Given the description of an element on the screen output the (x, y) to click on. 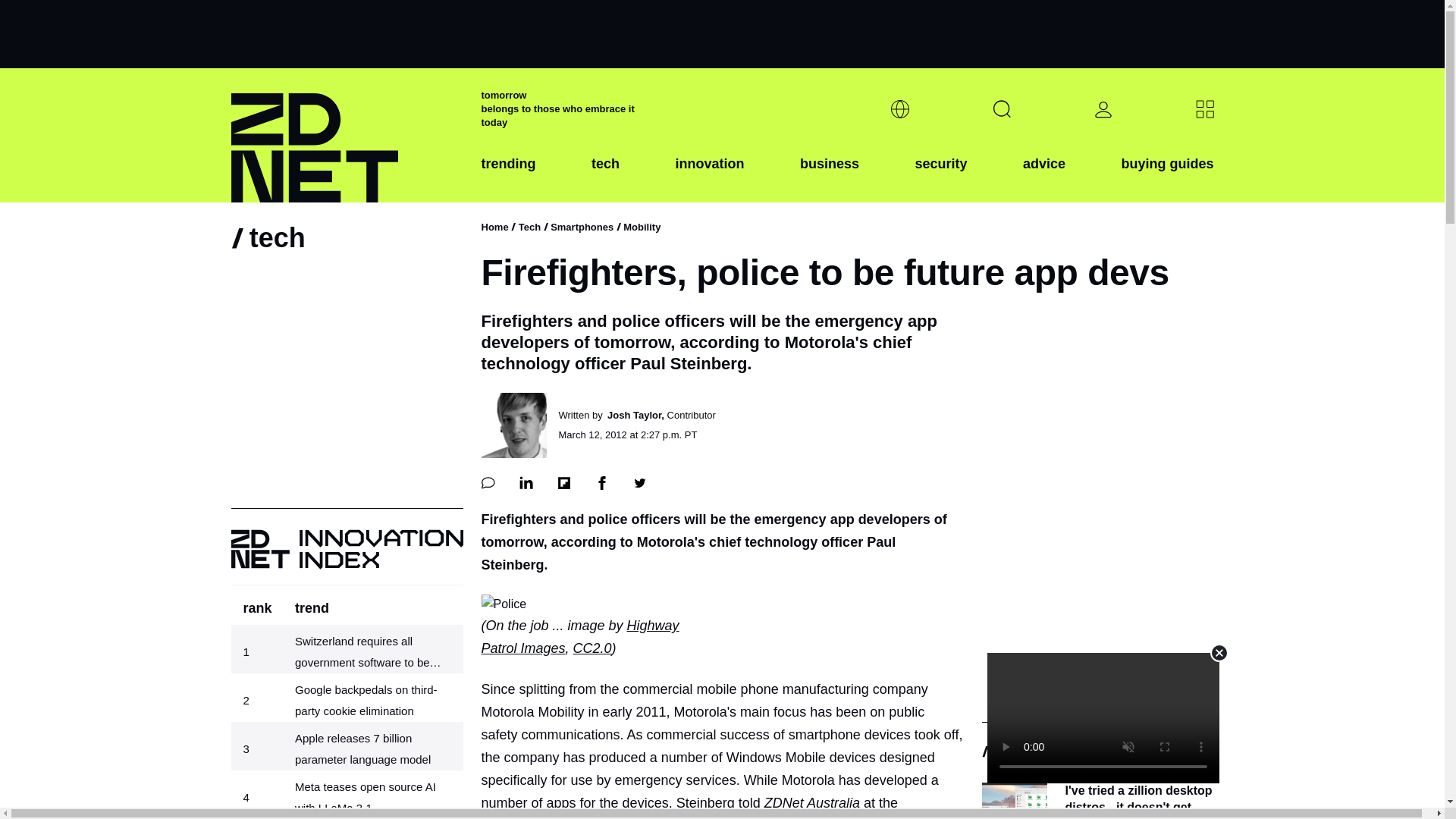
Police (502, 604)
3rd party ad content (721, 33)
trending (507, 175)
ZDNET (346, 134)
